Given the description of an element on the screen output the (x, y) to click on. 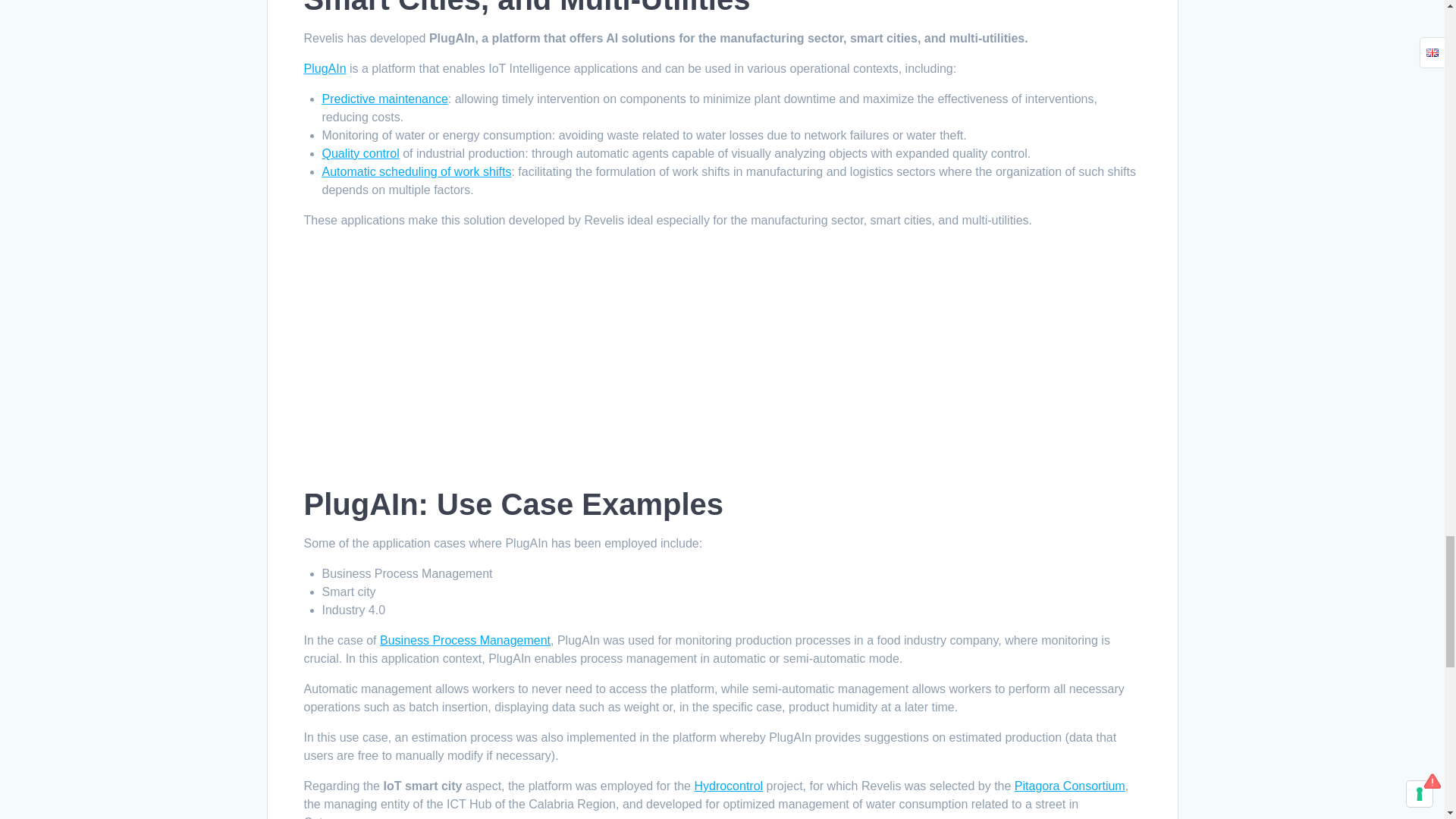
YouTube video player (515, 360)
